Given the description of an element on the screen output the (x, y) to click on. 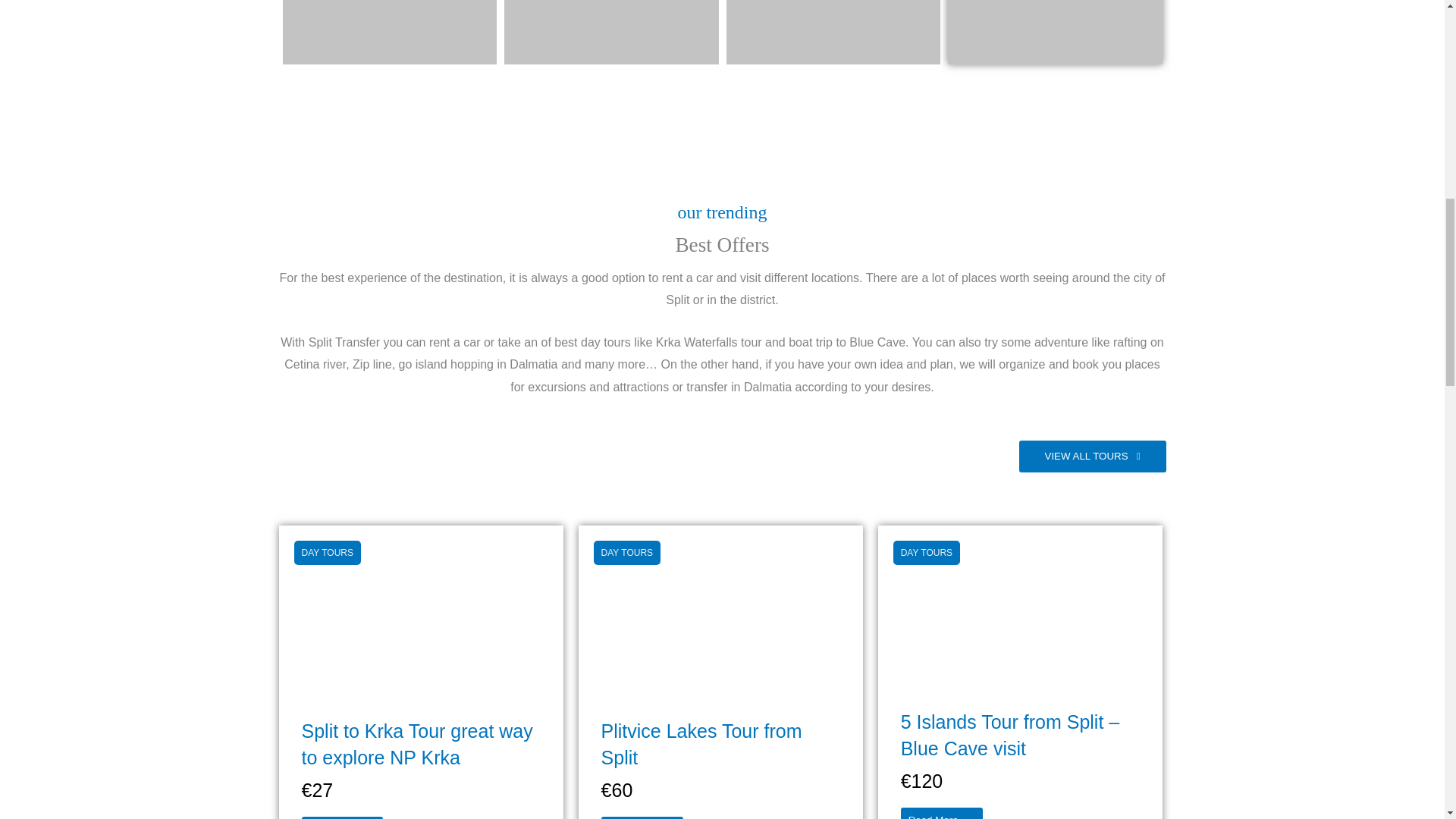
Split to Krka Tour great way to explore NP Krka (421, 608)
Plitvice Lakes Tour from Split (720, 608)
